Given the description of an element on the screen output the (x, y) to click on. 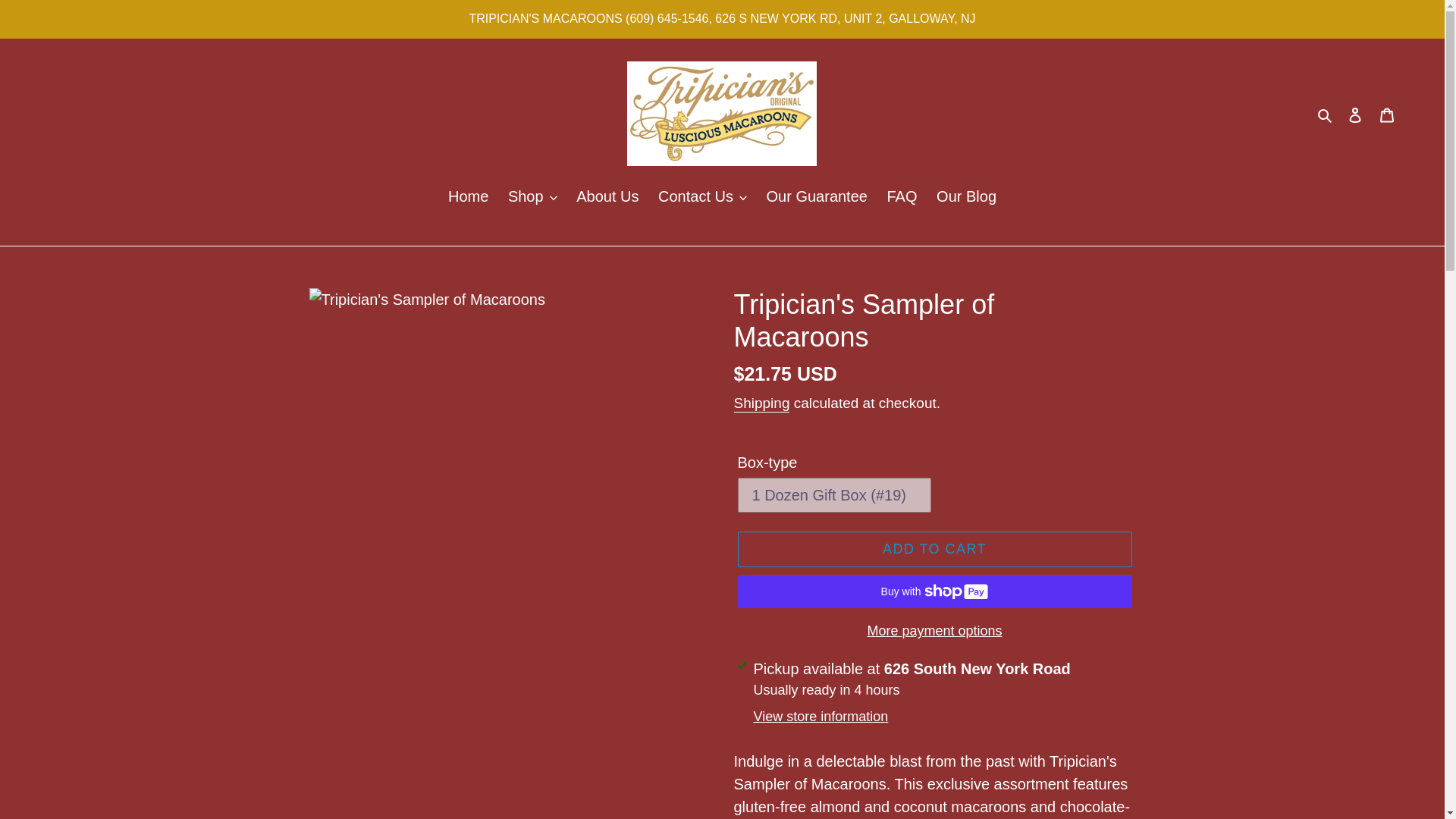
Search (1326, 113)
Shop (532, 197)
Home (468, 197)
